Given the description of an element on the screen output the (x, y) to click on. 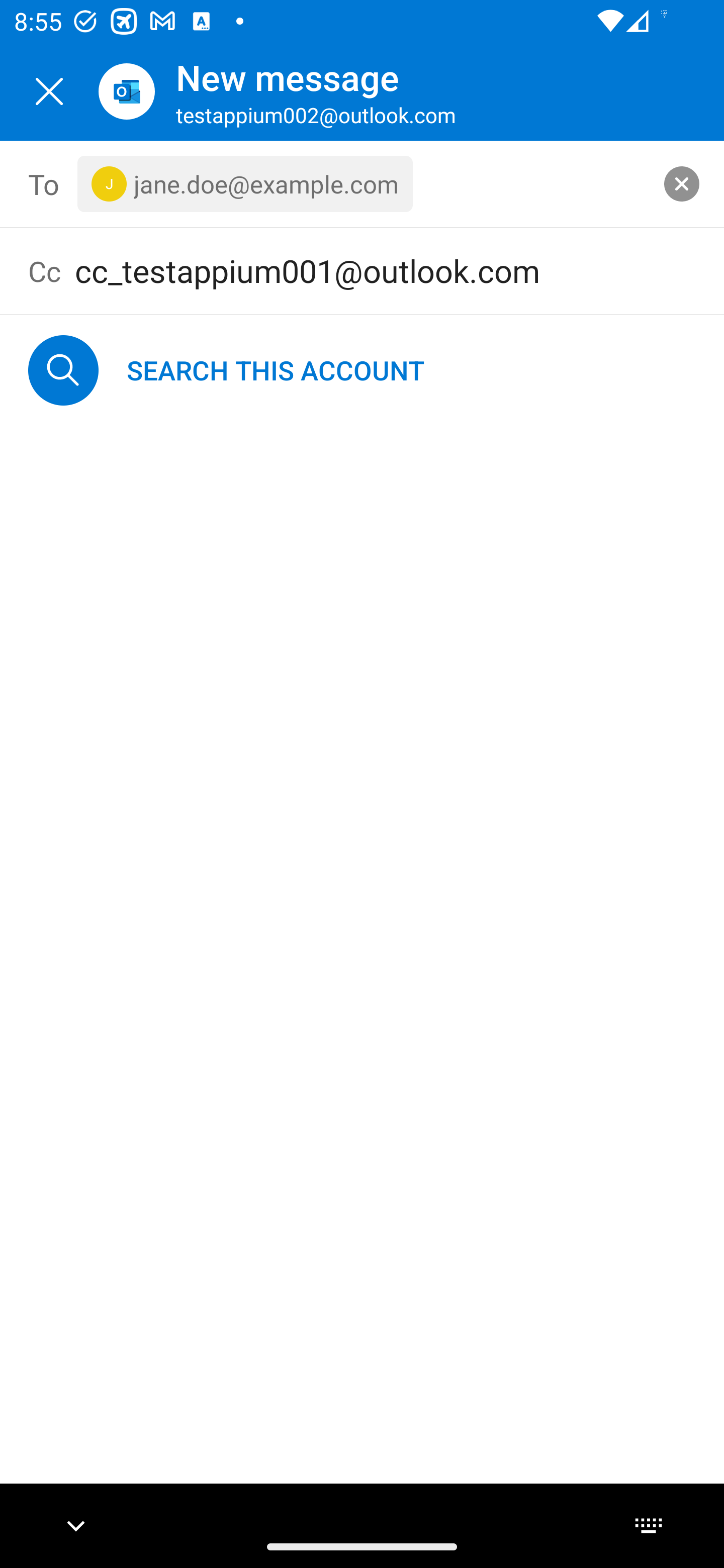
Close (49, 91)
To, 1 recipient <jane.doe@example.com> (362, 184)
clear search (681, 183)
cc_testappium001@outlook.com (384, 270)
